Given the description of an element on the screen output the (x, y) to click on. 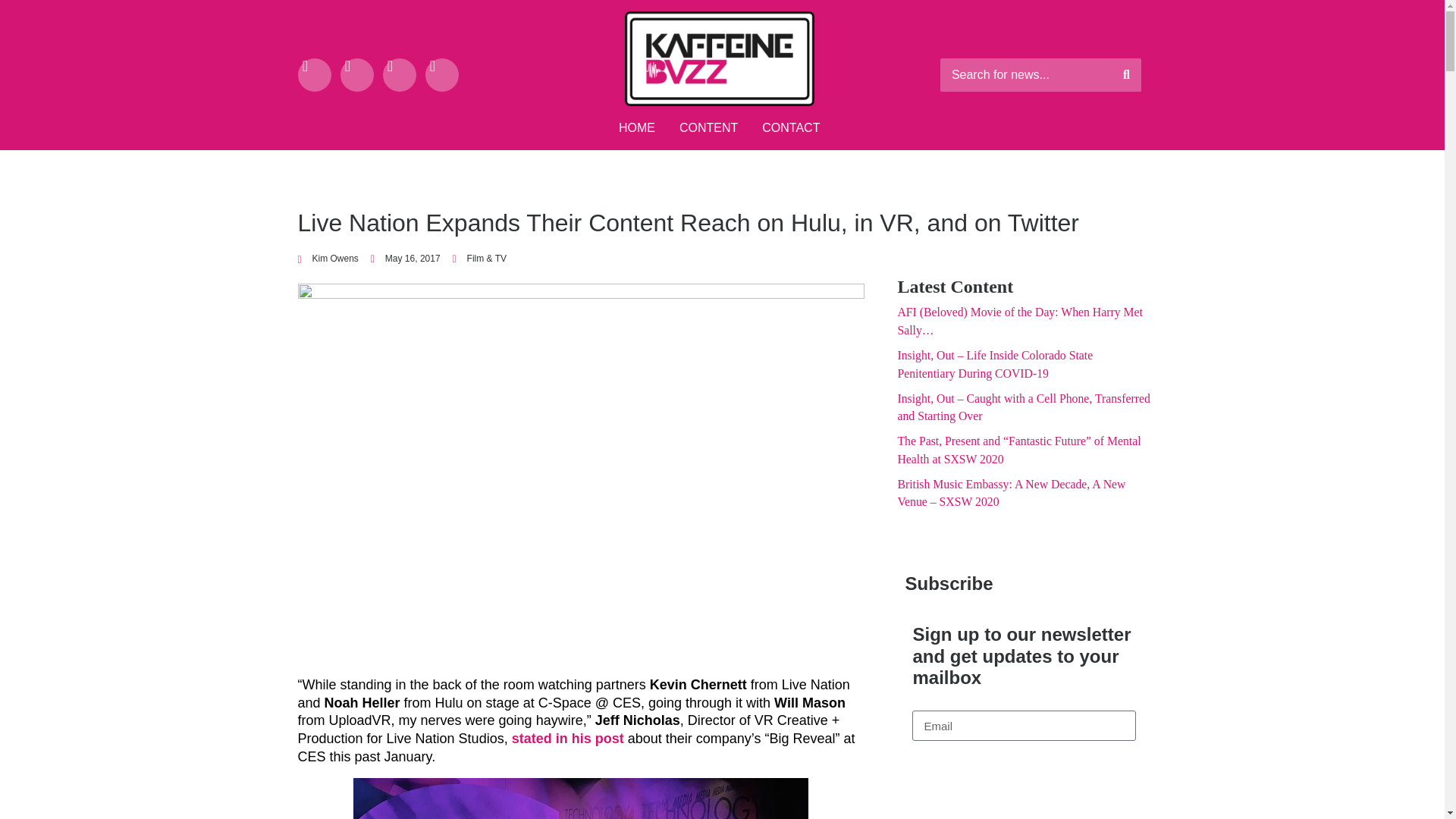
CONTENT (708, 129)
CONTACT (790, 129)
HOME (636, 129)
